Given the description of an element on the screen output the (x, y) to click on. 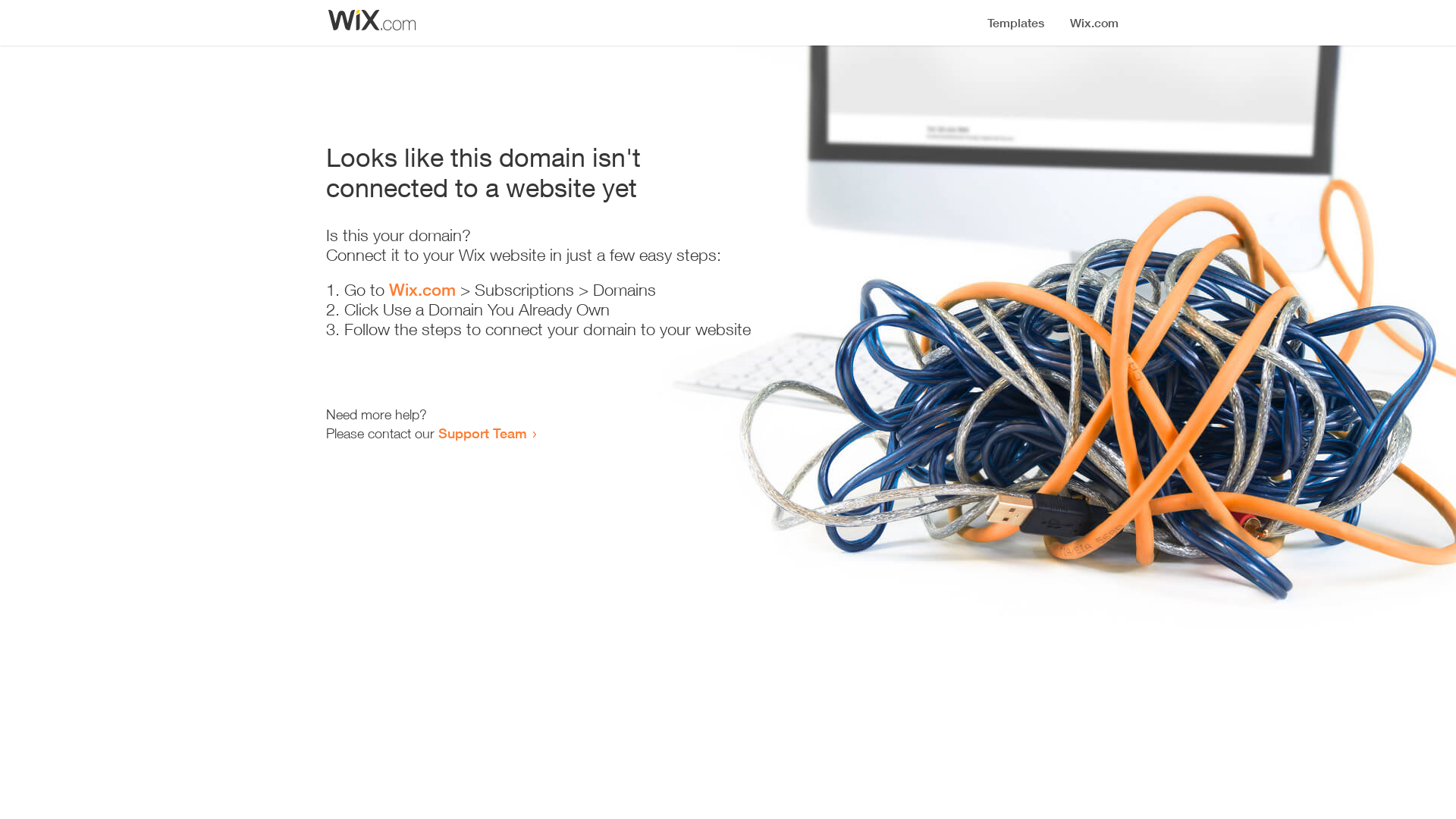
Wix.com Element type: text (422, 289)
Support Team Element type: text (482, 432)
